Given the description of an element on the screen output the (x, y) to click on. 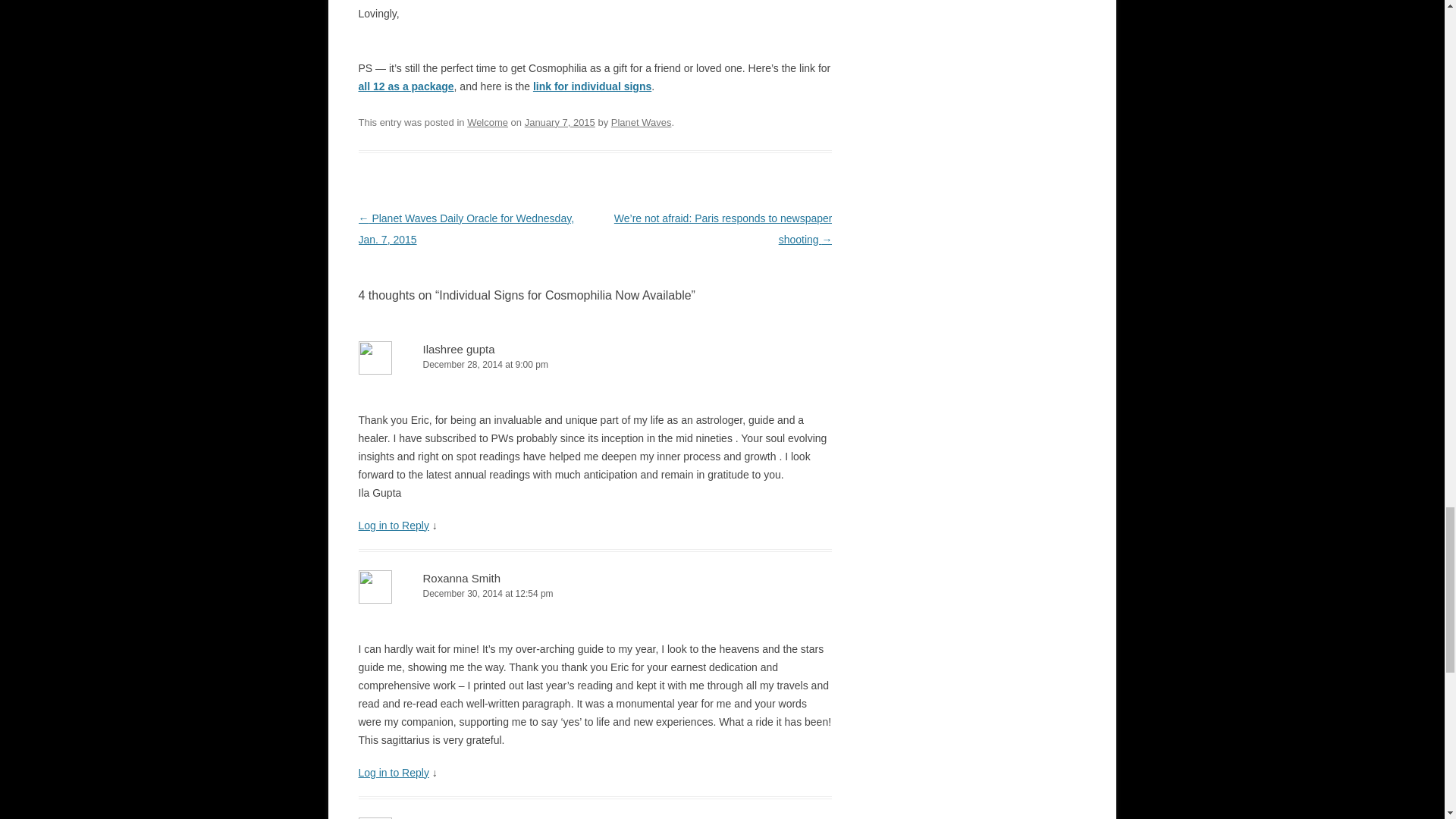
Log in to Reply (393, 525)
12:40 pm (559, 122)
Log in to Reply (393, 772)
Welcome (487, 122)
December 30, 2014 at 12:54 pm (594, 593)
December 28, 2014 at 9:00 pm (594, 365)
all 12 as a package (405, 86)
View all posts by Planet Waves (641, 122)
Planet Waves (641, 122)
Roxanna Smith (461, 577)
link for individual signs (591, 86)
January 7, 2015 (559, 122)
